Given the description of an element on the screen output the (x, y) to click on. 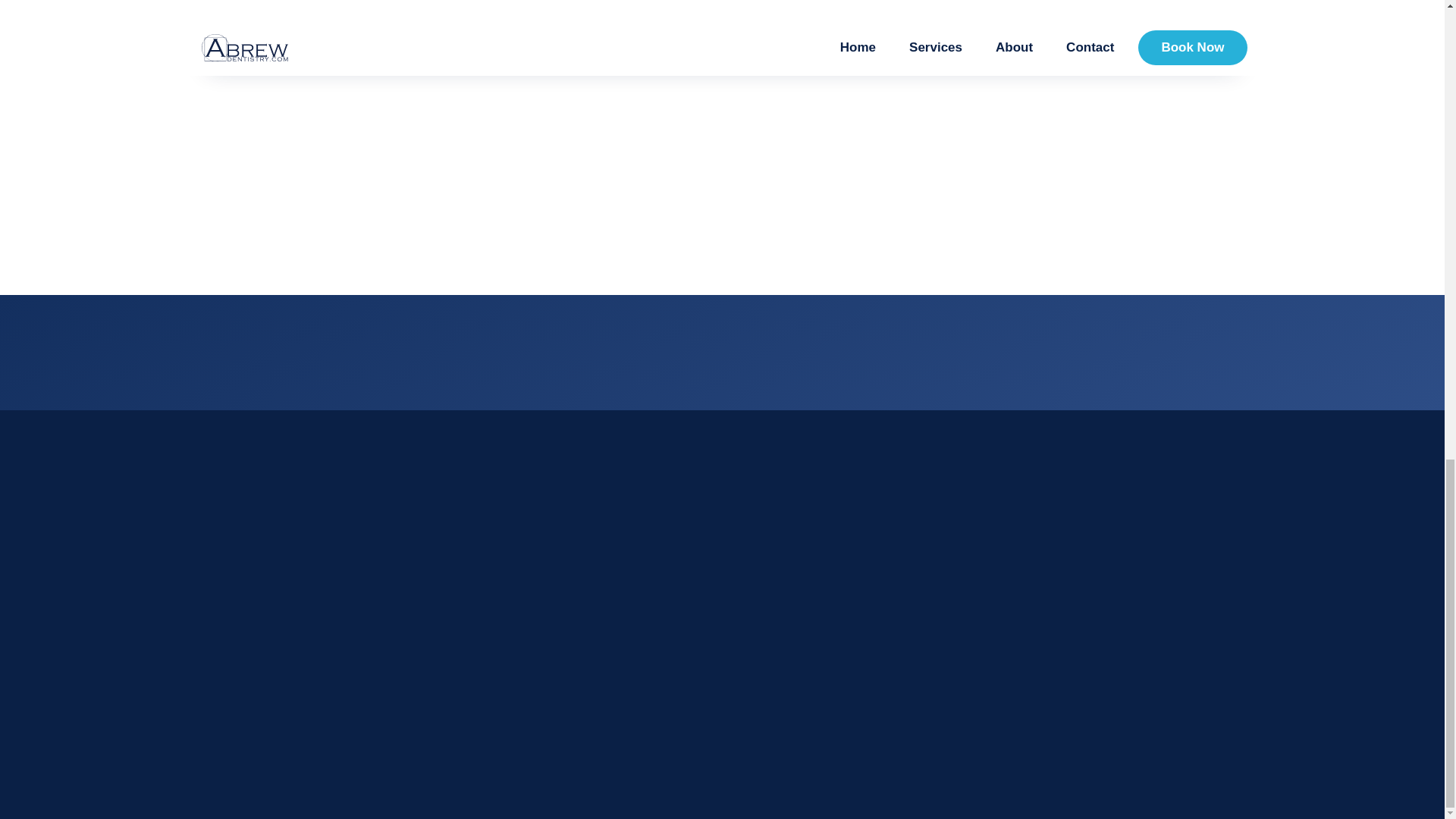
Submit (982, 146)
